Given the description of an element on the screen output the (x, y) to click on. 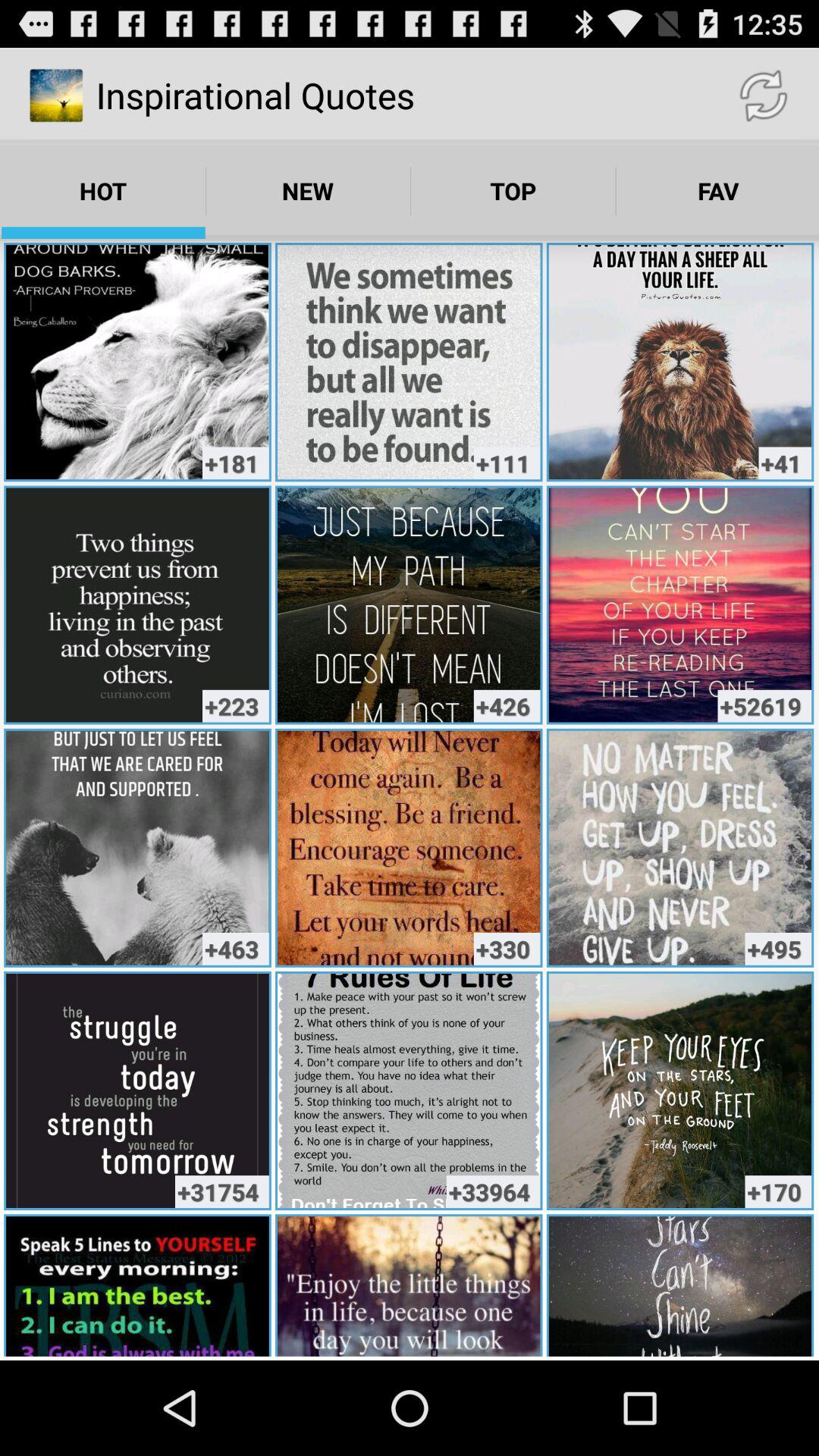
tap the item above the fav (763, 95)
